Given the description of an element on the screen output the (x, y) to click on. 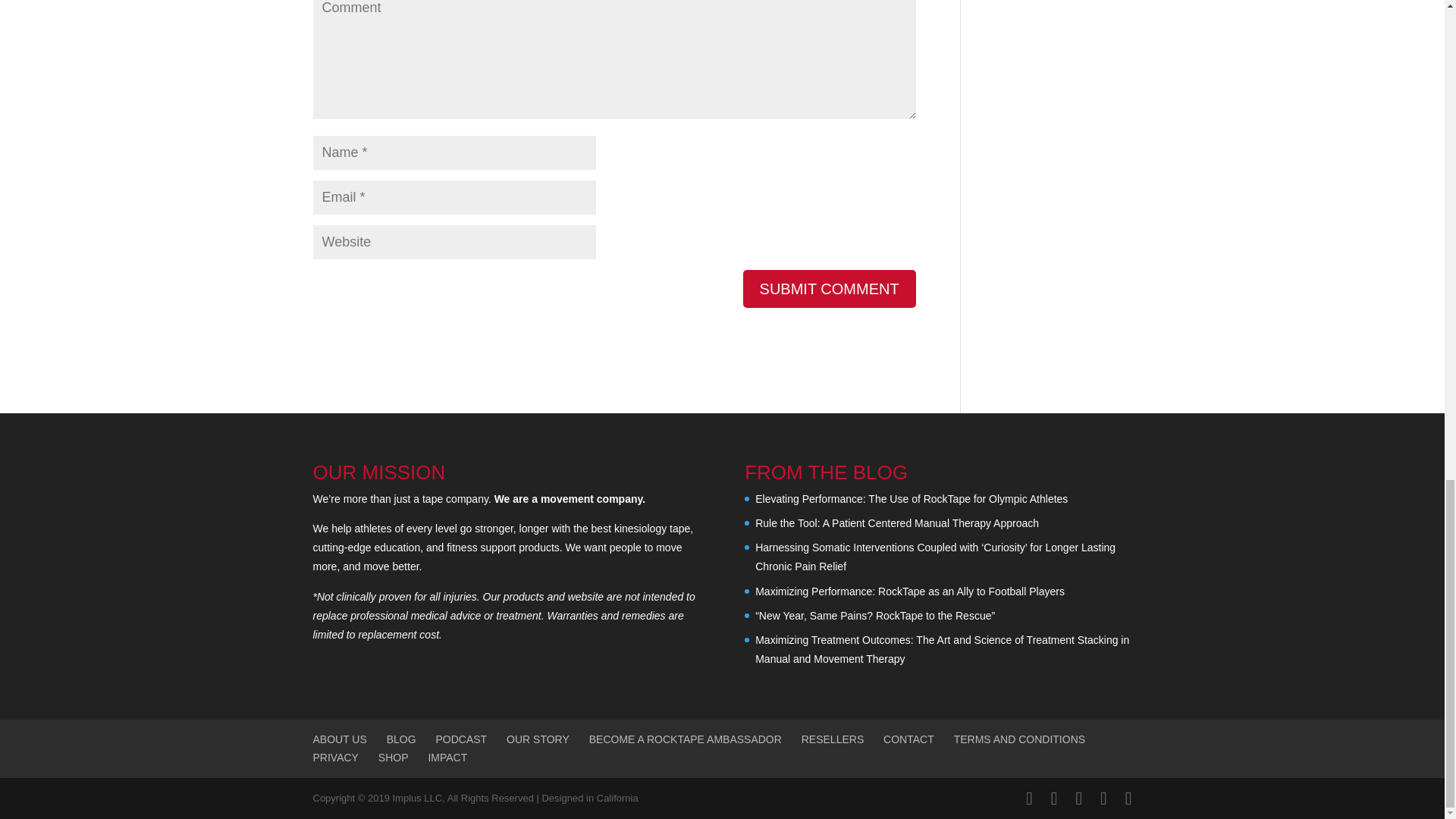
Submit Comment (828, 288)
